Given the description of an element on the screen output the (x, y) to click on. 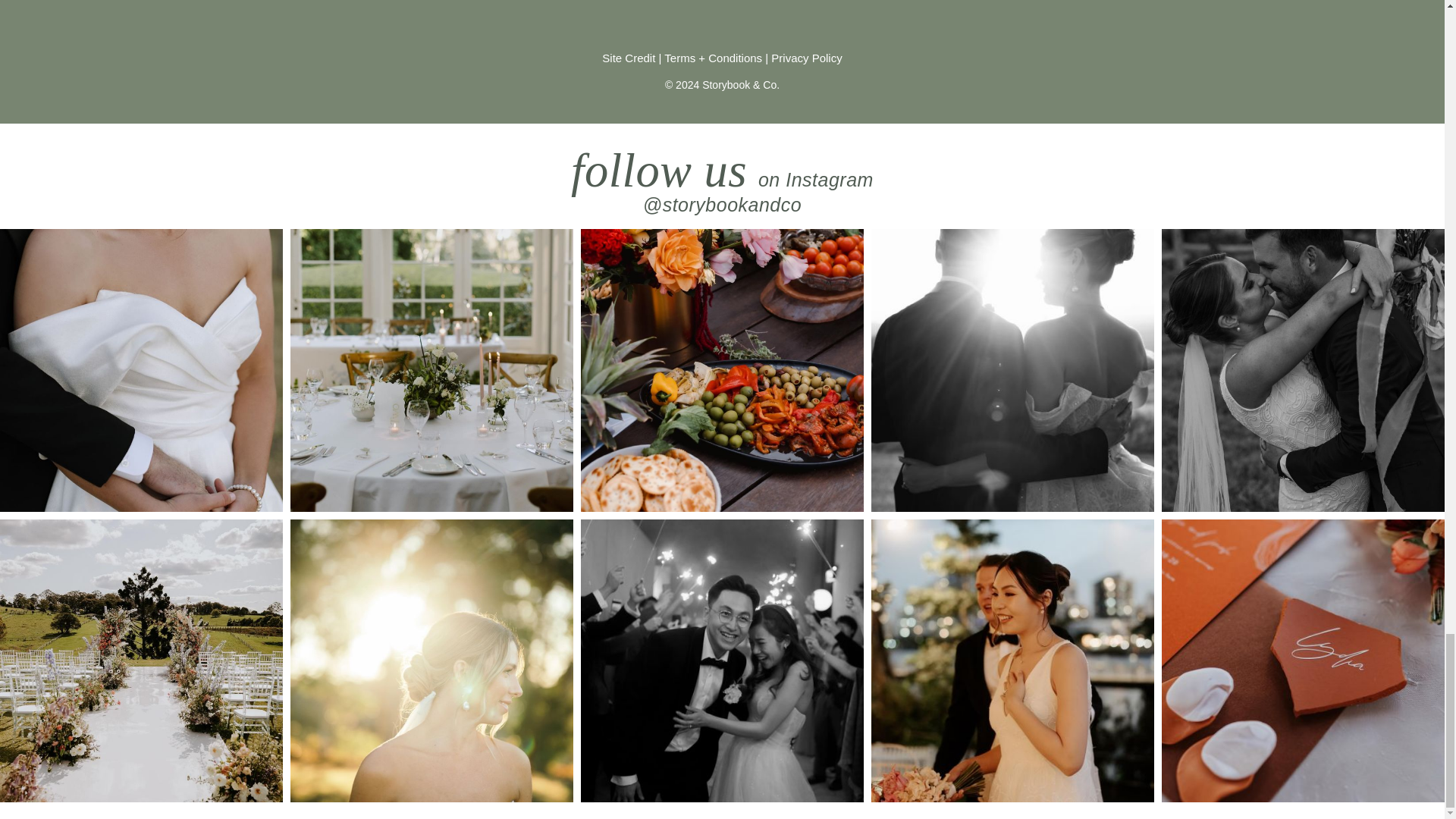
Site Credit  (630, 57)
